Given the description of an element on the screen output the (x, y) to click on. 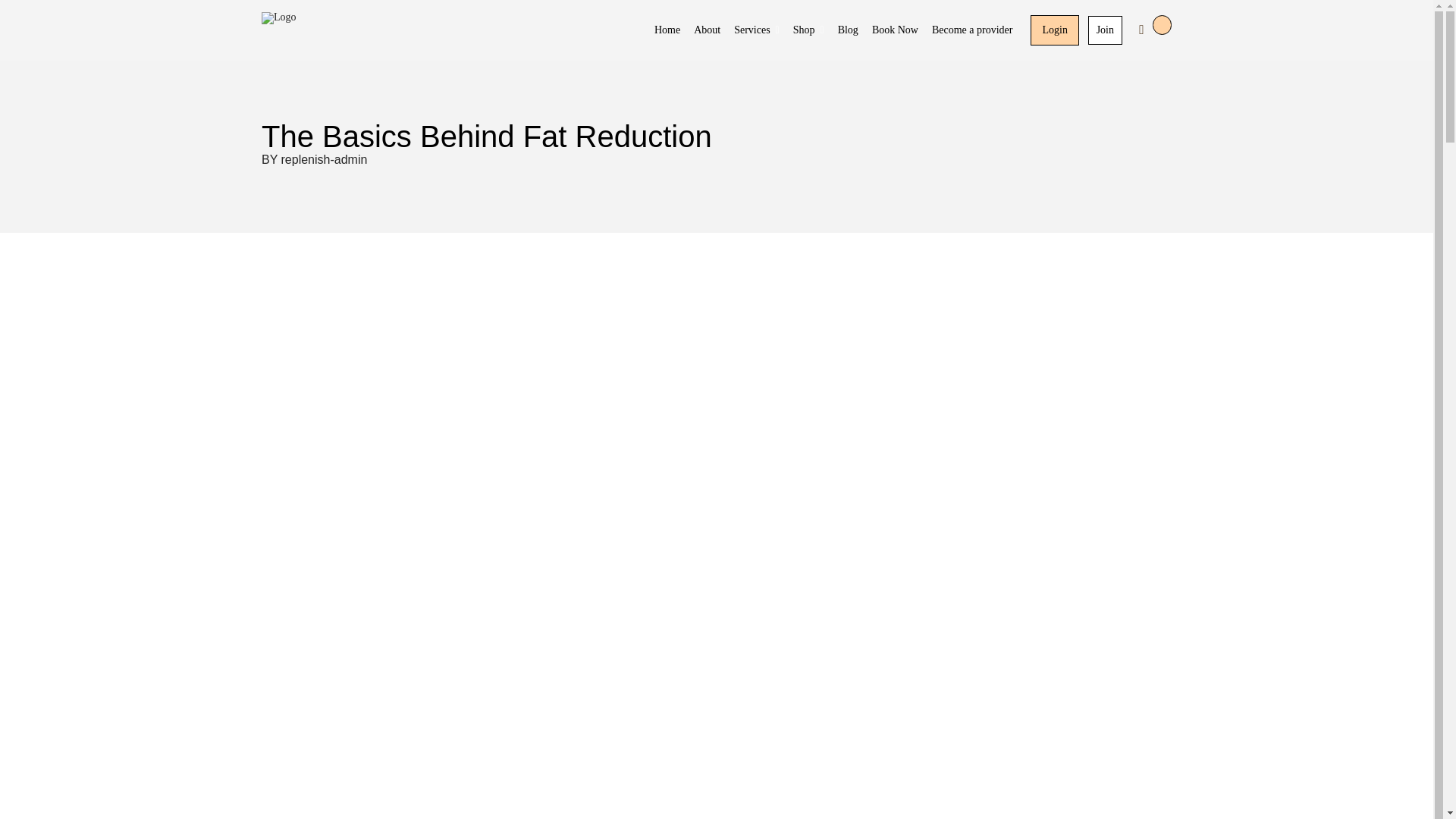
Shop (808, 30)
Home (667, 30)
Login (1054, 30)
About (706, 30)
Services (756, 30)
Book Now (894, 30)
Blog (847, 30)
Become a provider (972, 30)
Join (1104, 30)
